Given the description of an element on the screen output the (x, y) to click on. 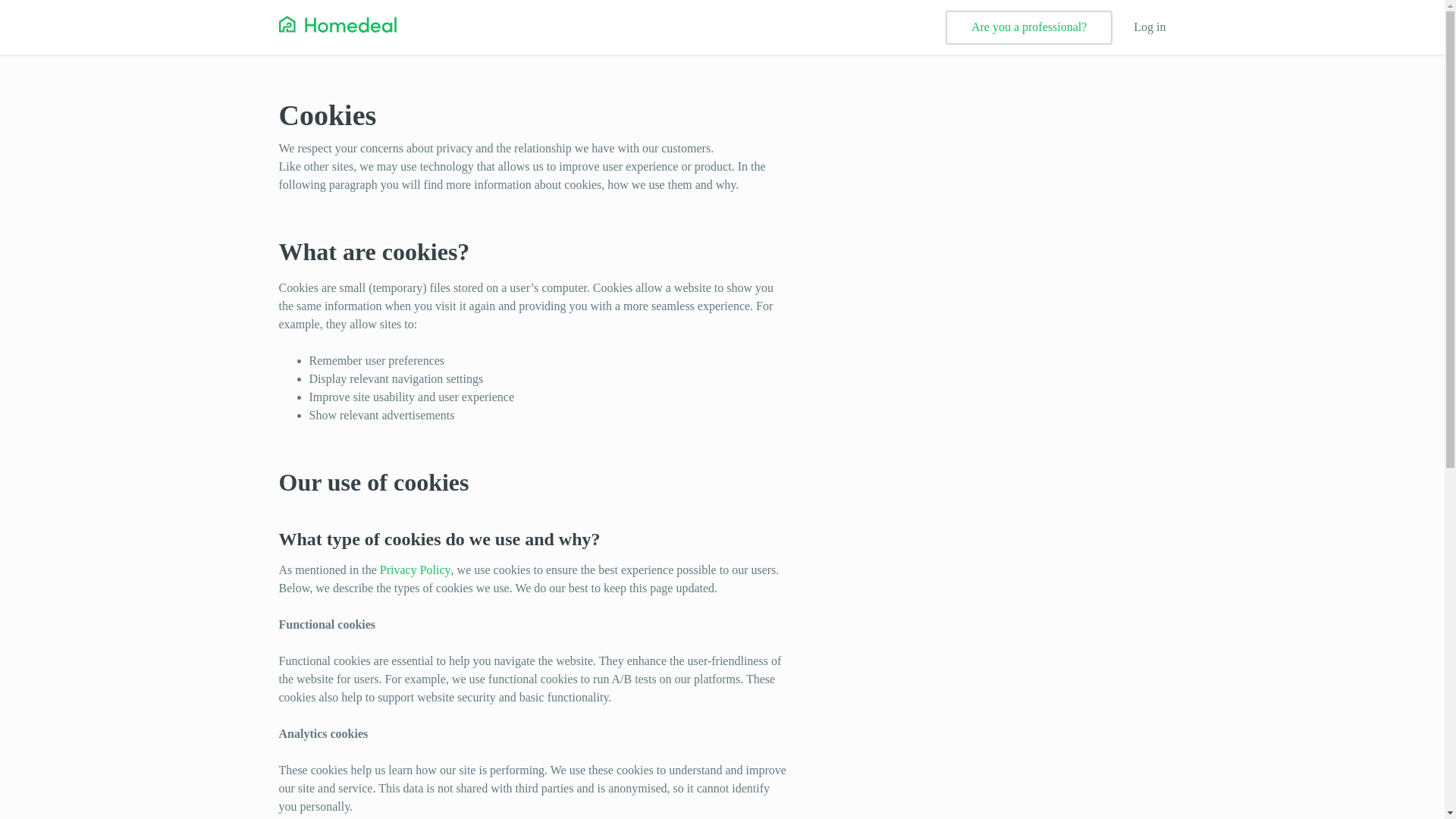
Log in (1149, 27)
Privacy Policy (415, 569)
Are you a professional? (1028, 27)
